Given the description of an element on the screen output the (x, y) to click on. 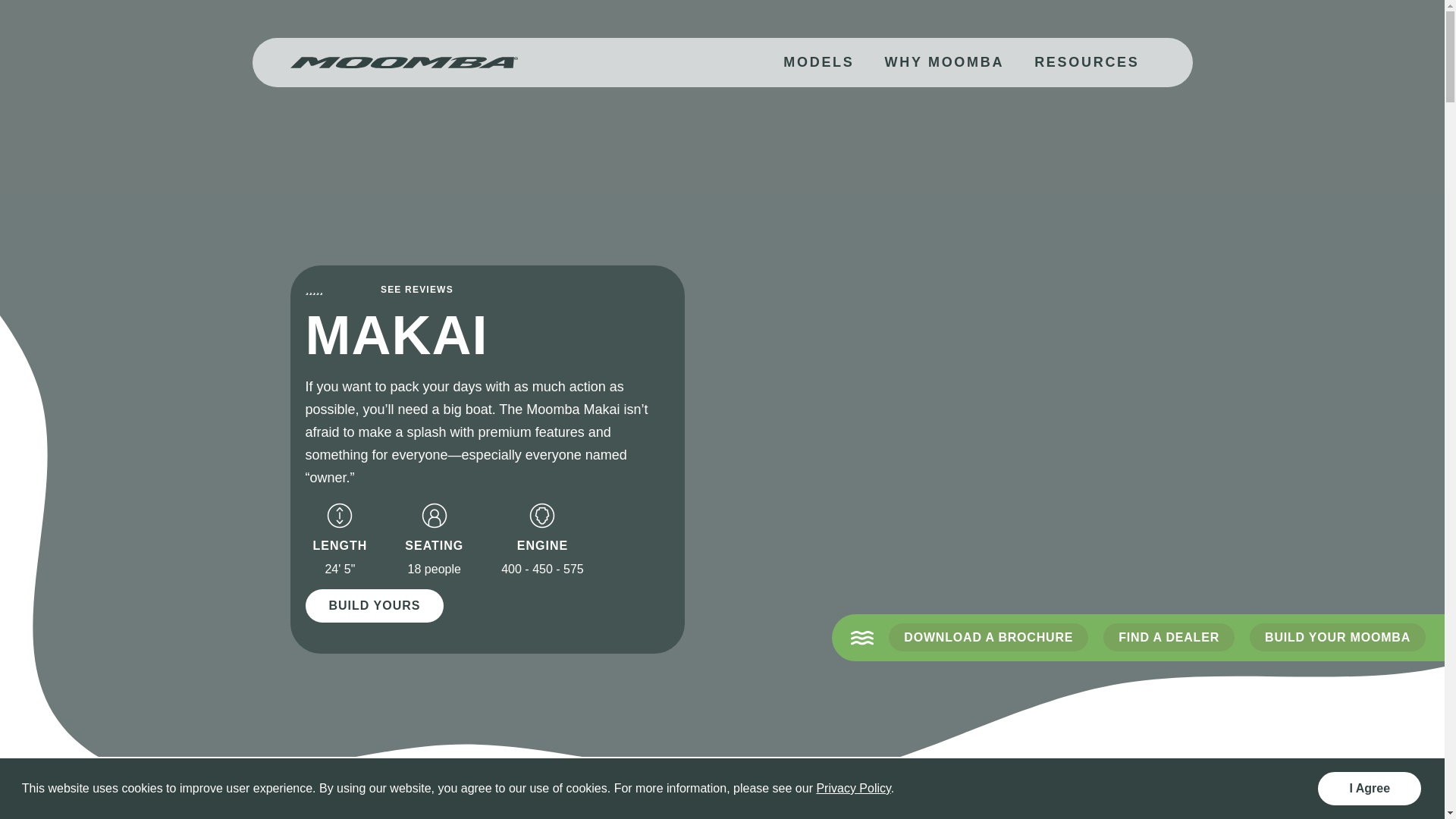
BUILD YOUR MOOMBA Element type: text (1337, 637)
SEE REVIEWS Element type: text (416, 289)
RESOURCES Element type: text (1086, 62)
MODELS Element type: text (818, 62)
WHY MOOMBA Element type: text (944, 62)
FIND A DEALER Element type: text (1168, 637)
I Agree Element type: text (1369, 788)
Moomba Logo Element type: text (403, 61)
BUILD YOURS Element type: text (373, 605)
Privacy Policy Element type: text (852, 787)
DOWNLOAD A BROCHURE Element type: text (988, 637)
